Given the description of an element on the screen output the (x, y) to click on. 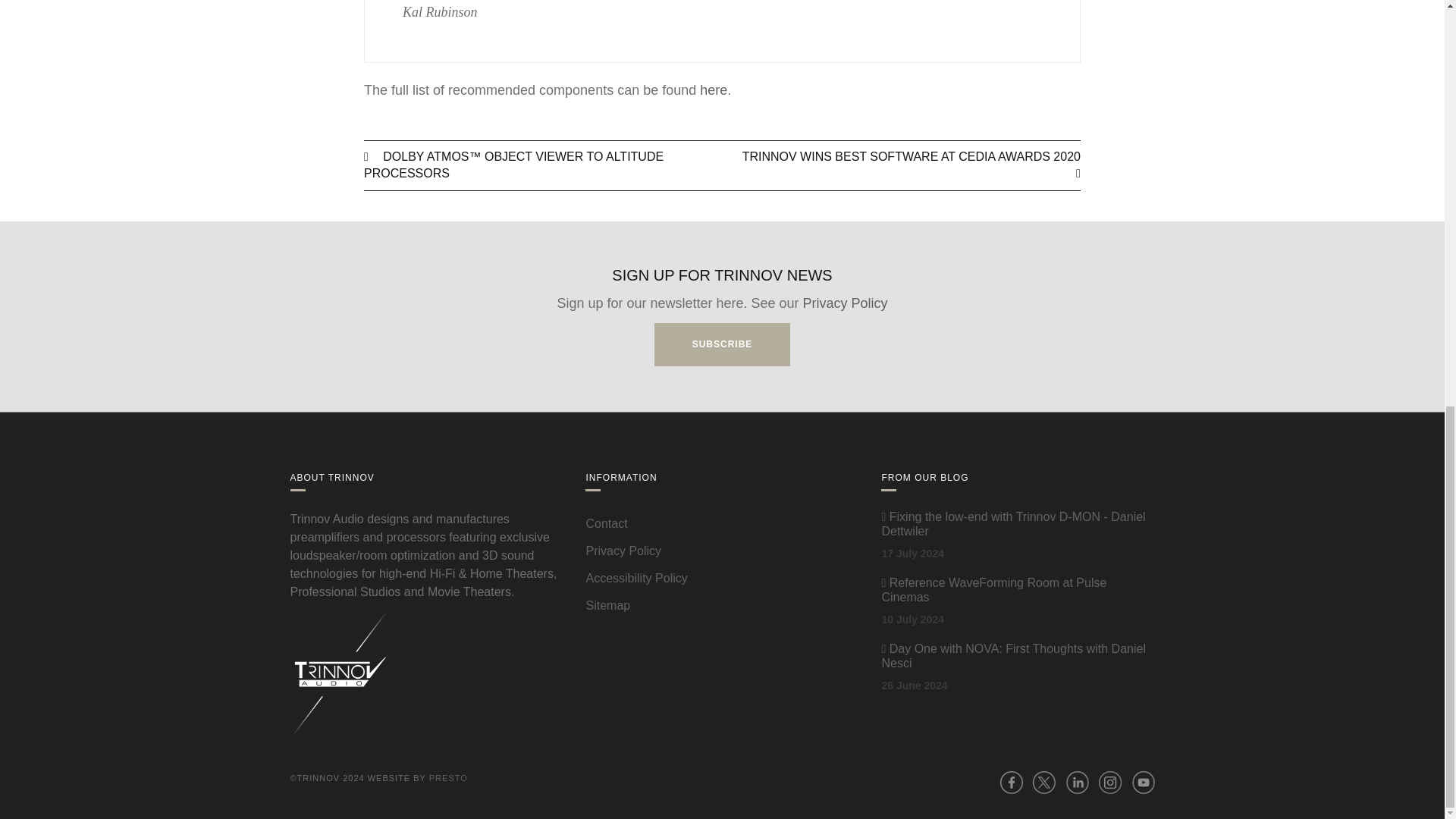
Privacy Policy (623, 550)
Contact Us (606, 522)
Sitemap (607, 604)
Presto Web Design (448, 777)
Accessibility Policy (636, 577)
